Given the description of an element on the screen output the (x, y) to click on. 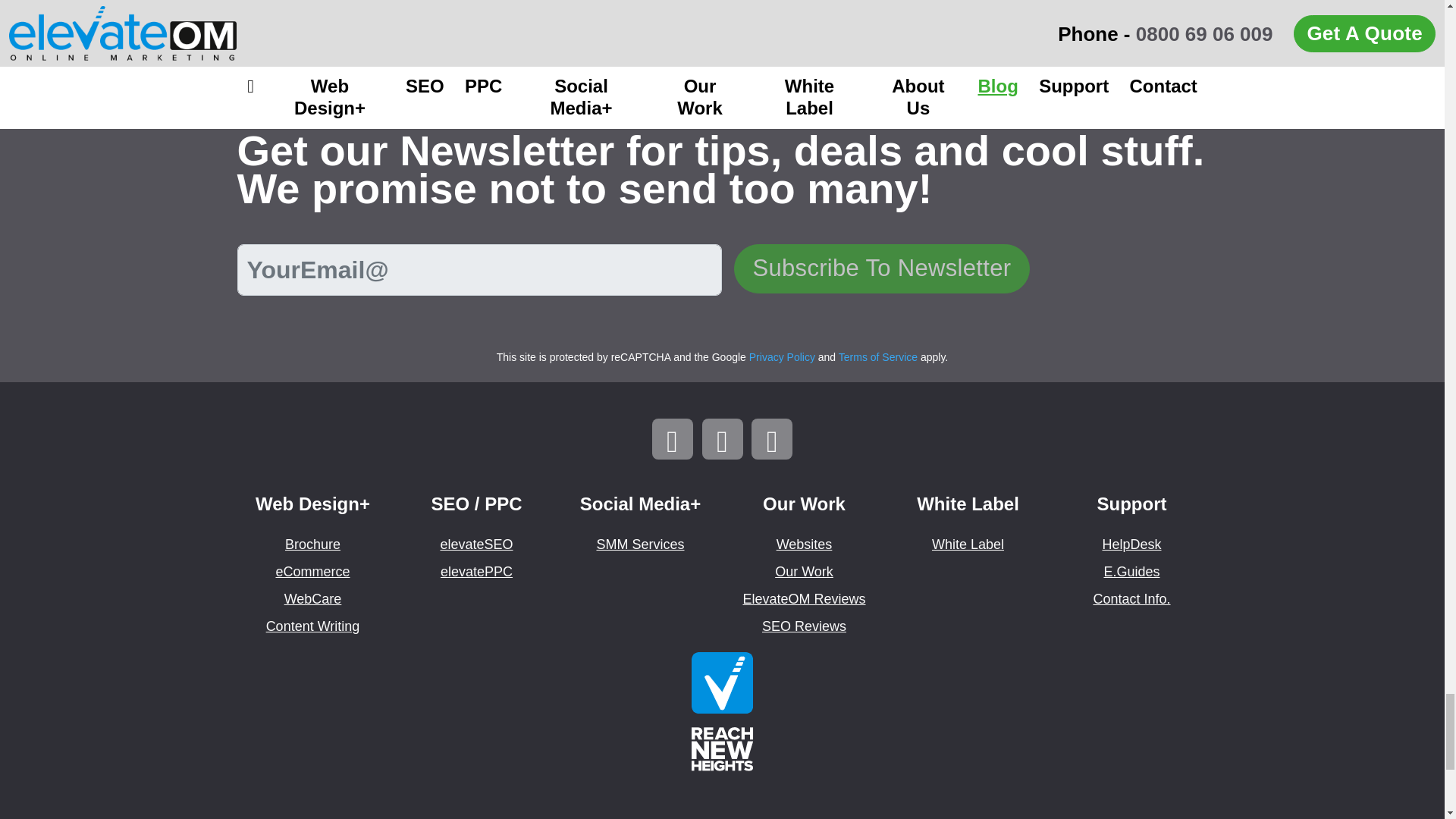
Subscribe To Newsletter (881, 268)
Instagram (771, 438)
Linkedin (672, 438)
Facebook (721, 438)
